Given the description of an element on the screen output the (x, y) to click on. 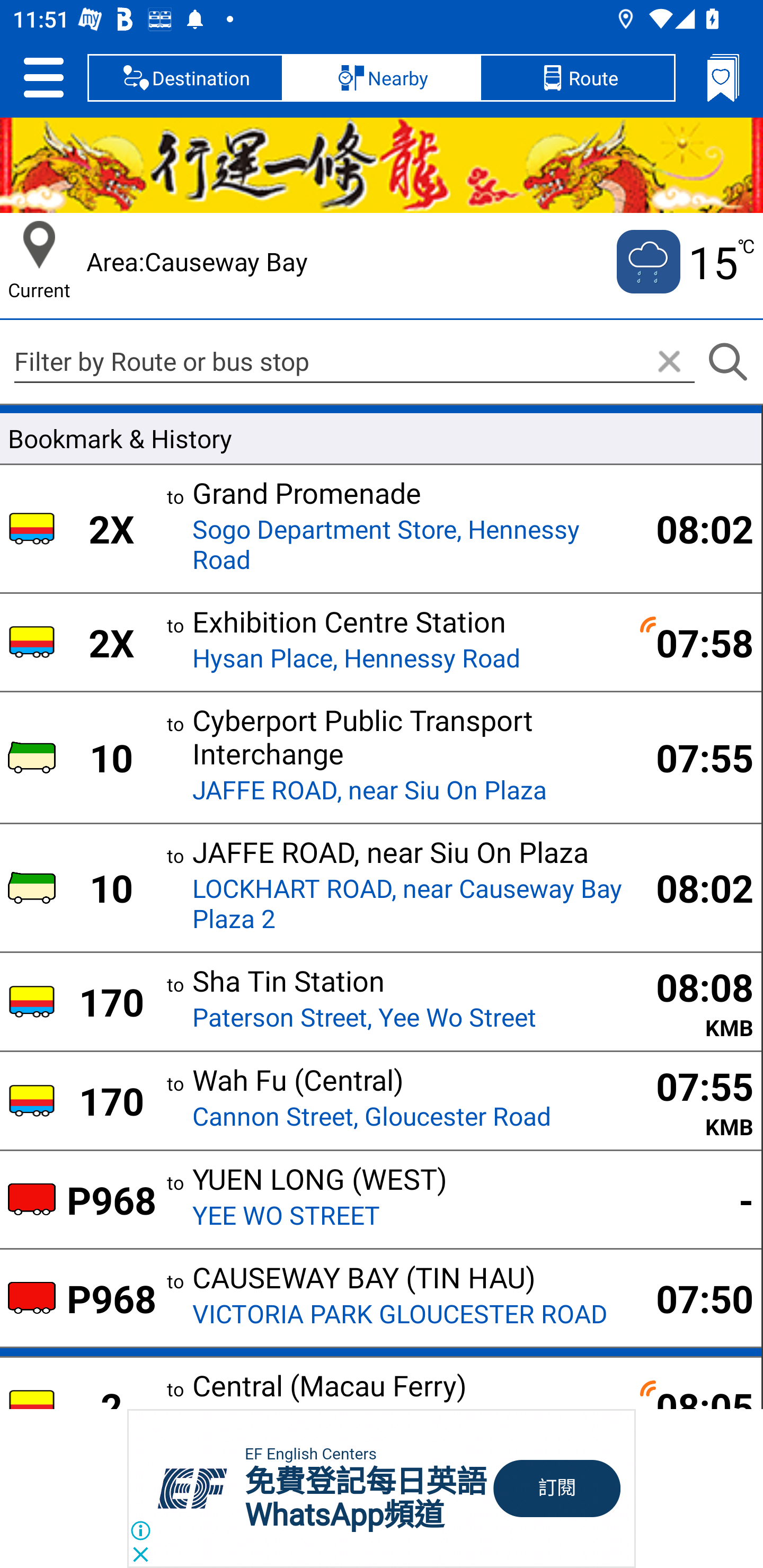
Destination (185, 77)
Nearby, selected (381, 77)
Route (577, 77)
Bookmarks (723, 77)
Setting (43, 77)
Lunar New Year 2024 (381, 165)
Current Location (38, 244)
Current temputure is  15  no 15 ℃ (684, 261)
Filter by Route or bus stop (354, 361)
Search (727, 362)
Clear (669, 361)
Bookmark & History (380, 434)
08:02 (693, 528)
07:58 (693, 641)
07:55 (693, 757)
08:02 (693, 887)
08:08 KMB (693, 1001)
07:55 KMB (693, 1100)
- (693, 1199)
07:50 (693, 1297)
EF English Centers (310, 1454)
訂閱 (556, 1488)
免費登記每日英語 WhatsApp頻道 免費登記每日英語 WhatsApp頻道 (365, 1497)
